Given the description of an element on the screen output the (x, y) to click on. 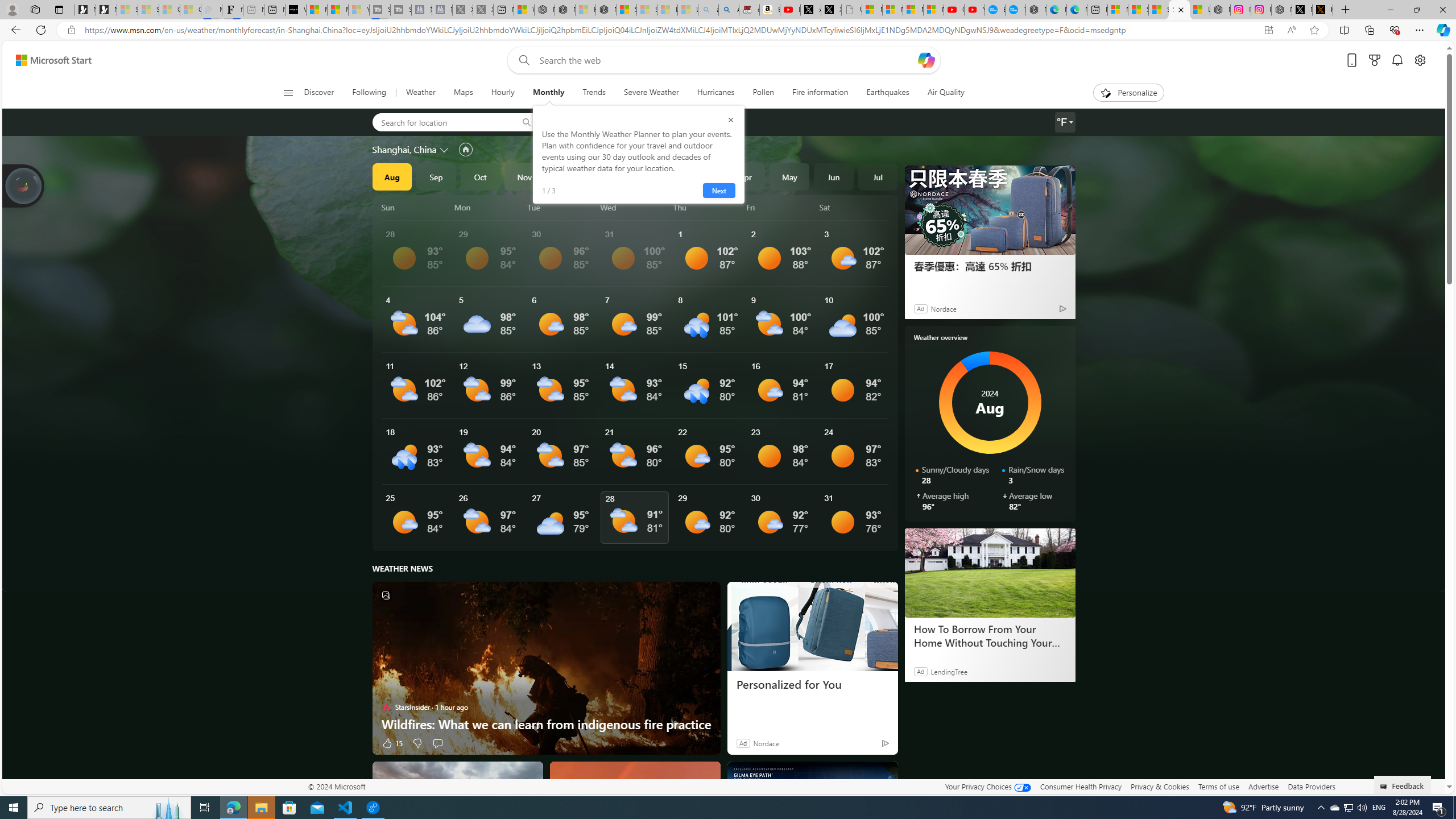
Fri (780, 207)
Mar (700, 176)
Pollen (763, 92)
Feb (657, 176)
